Given the description of an element on the screen output the (x, y) to click on. 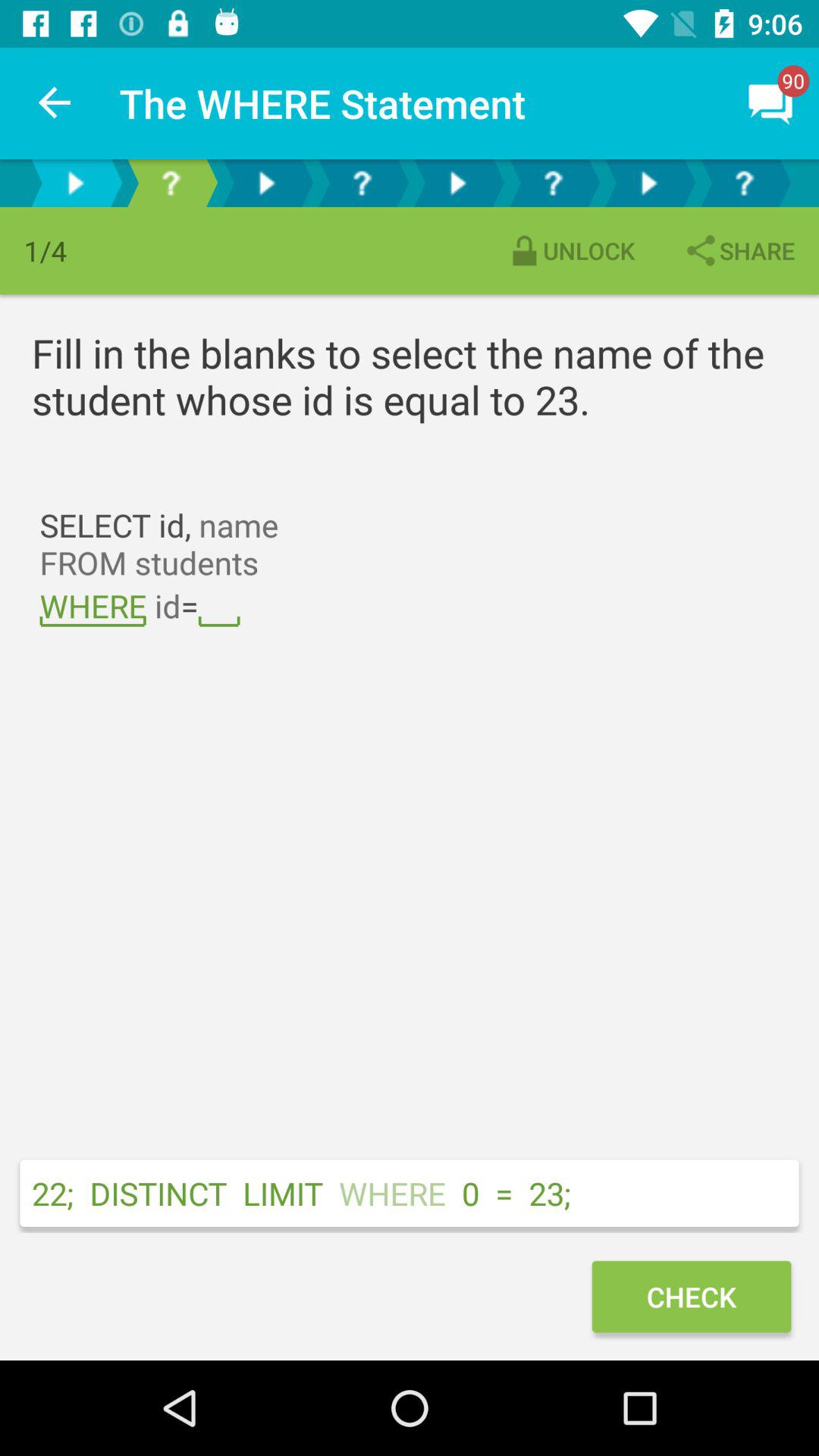
open the icon to the left of the where statement item (55, 103)
